Given the description of an element on the screen output the (x, y) to click on. 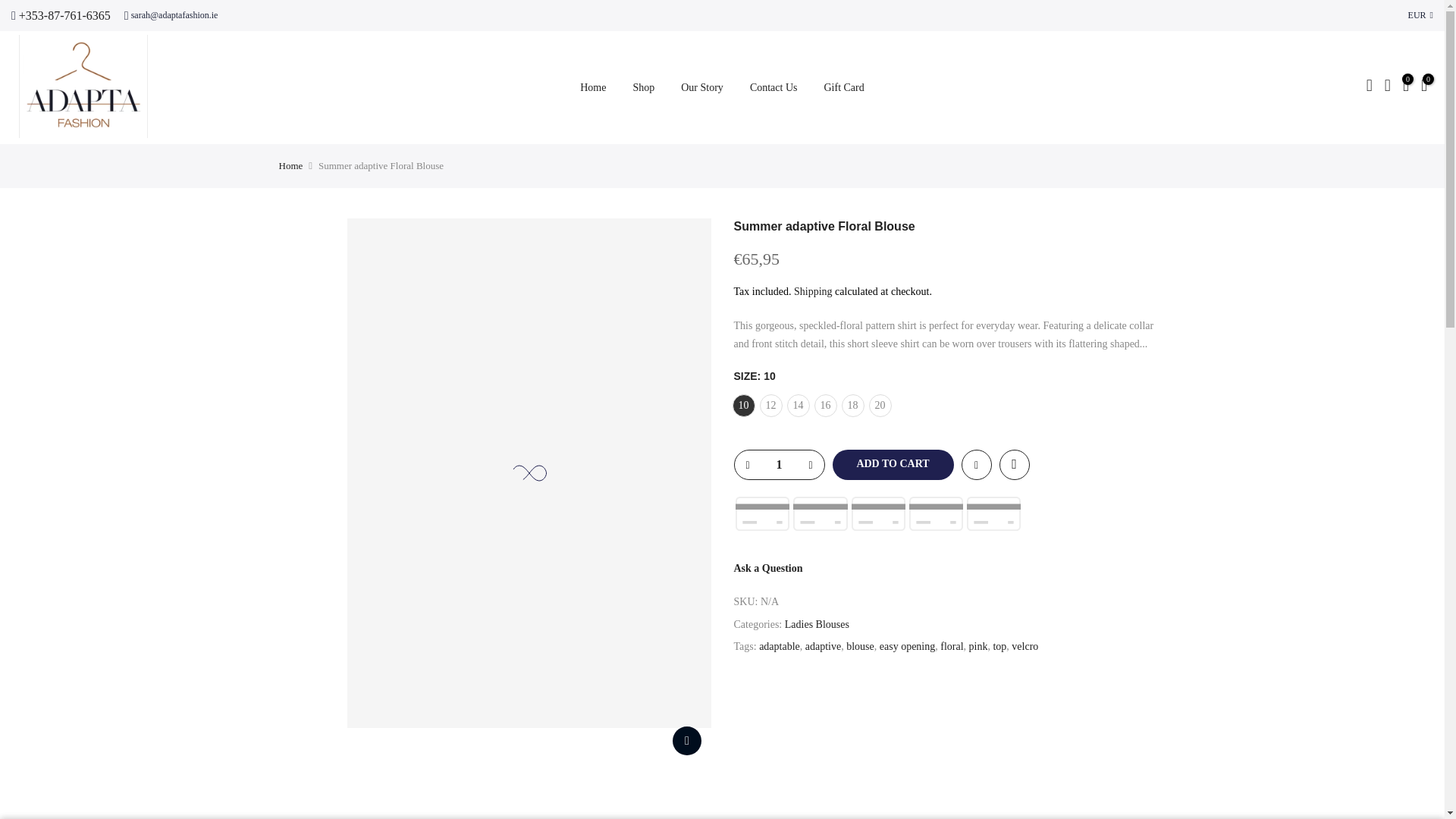
easy opening (906, 645)
Ladies Blouses (816, 624)
top (999, 645)
pink (978, 645)
floral (951, 645)
0 (1405, 86)
Shipping (812, 291)
ADD TO CART (892, 464)
Home (290, 165)
adaptable (778, 645)
